Given the description of an element on the screen output the (x, y) to click on. 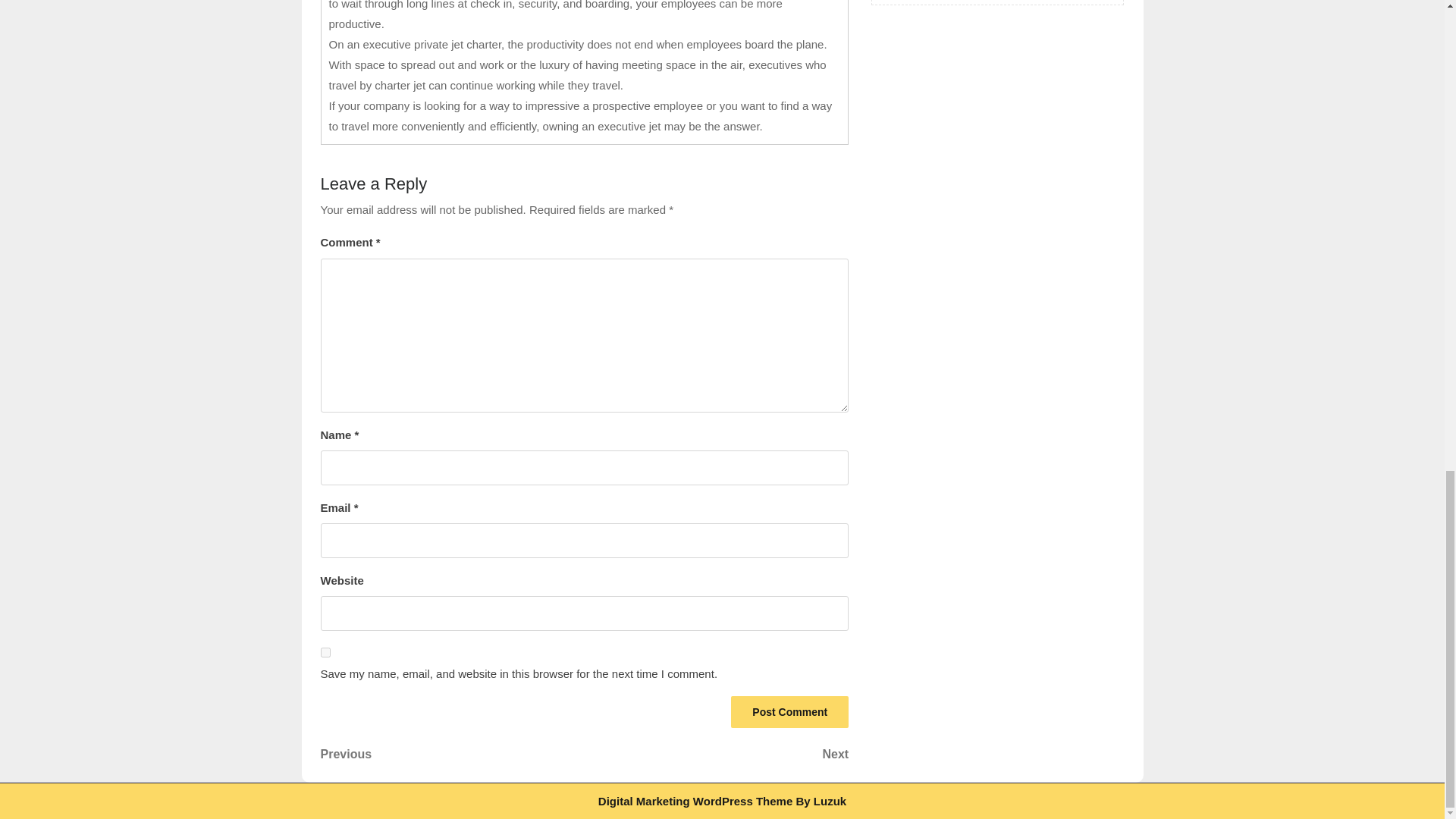
Post Comment (789, 712)
Post Comment (789, 712)
yes (325, 652)
Digital Marketing WordPress Theme By Luzuk (716, 754)
